Given the description of an element on the screen output the (x, y) to click on. 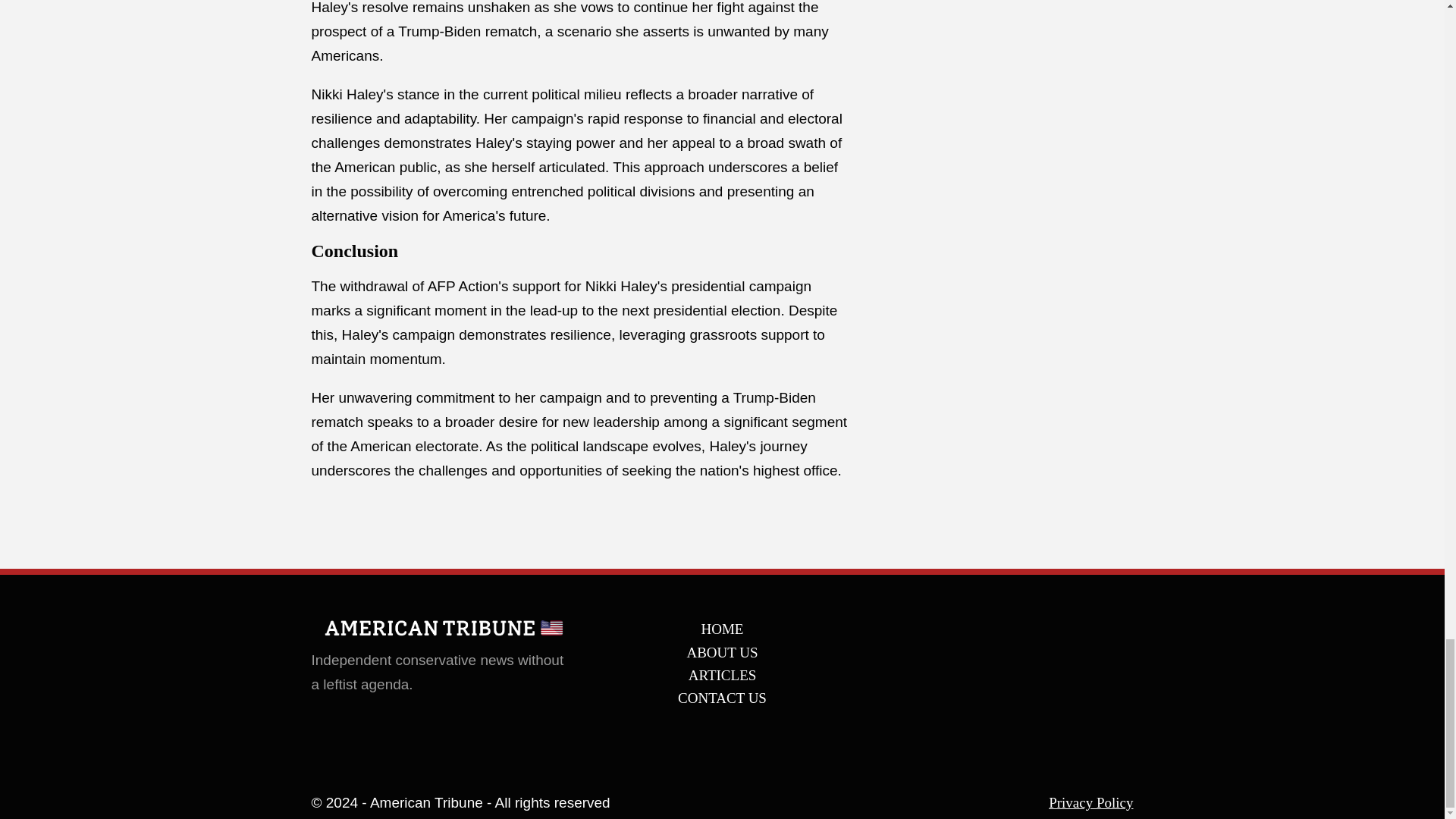
ARTICLES (722, 675)
HOME (722, 629)
Privacy Policy (1090, 803)
CONTACT US (722, 698)
ABOUT US (722, 653)
